Given the description of an element on the screen output the (x, y) to click on. 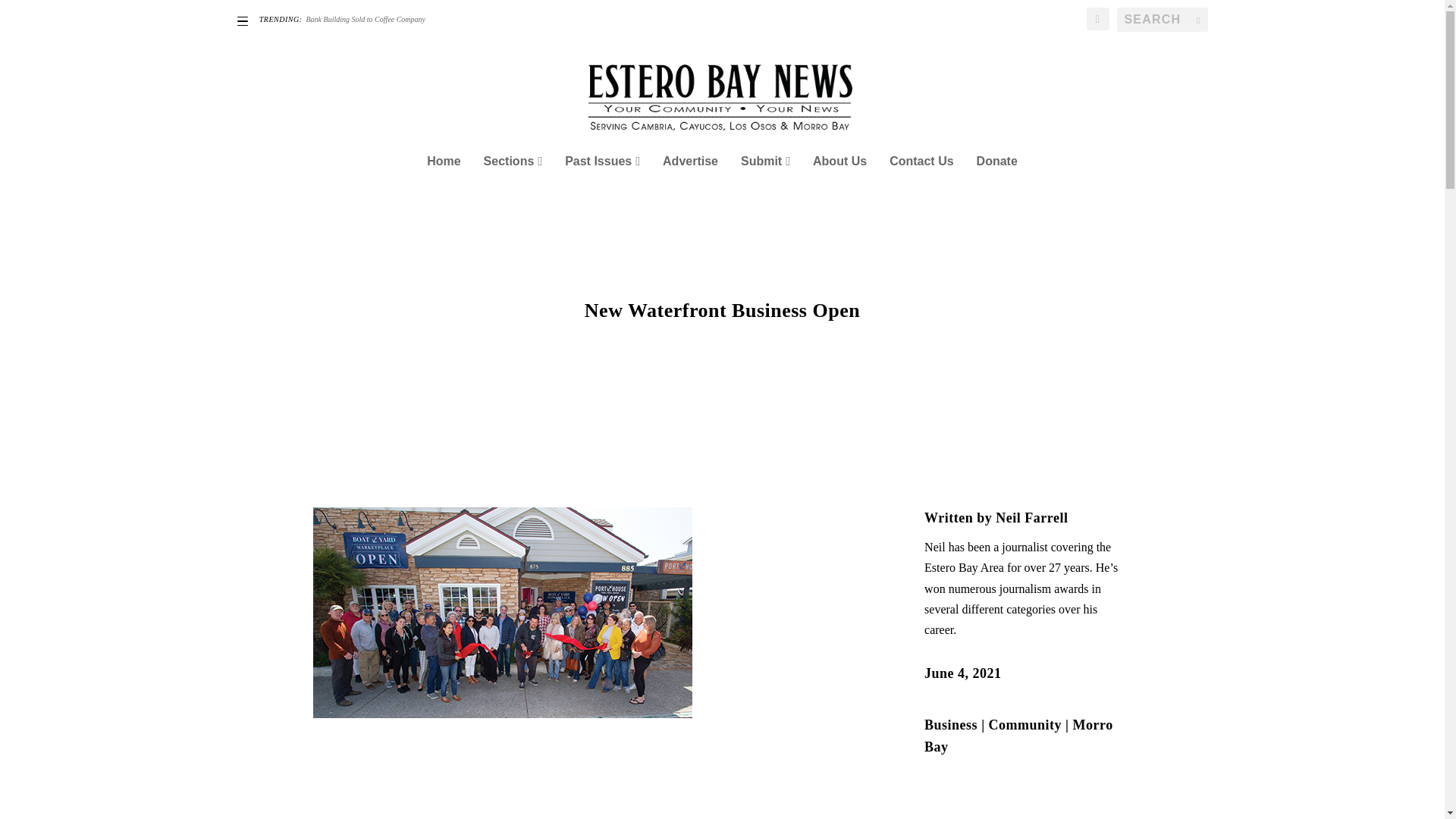
Boat Yard Ribbon (502, 612)
Search for: (1161, 19)
About Us (839, 181)
Submit (765, 181)
Bank Building Sold to Coffee Company (365, 19)
Advertise (689, 181)
Past Issues (602, 181)
Sections (513, 181)
